Given the description of an element on the screen output the (x, y) to click on. 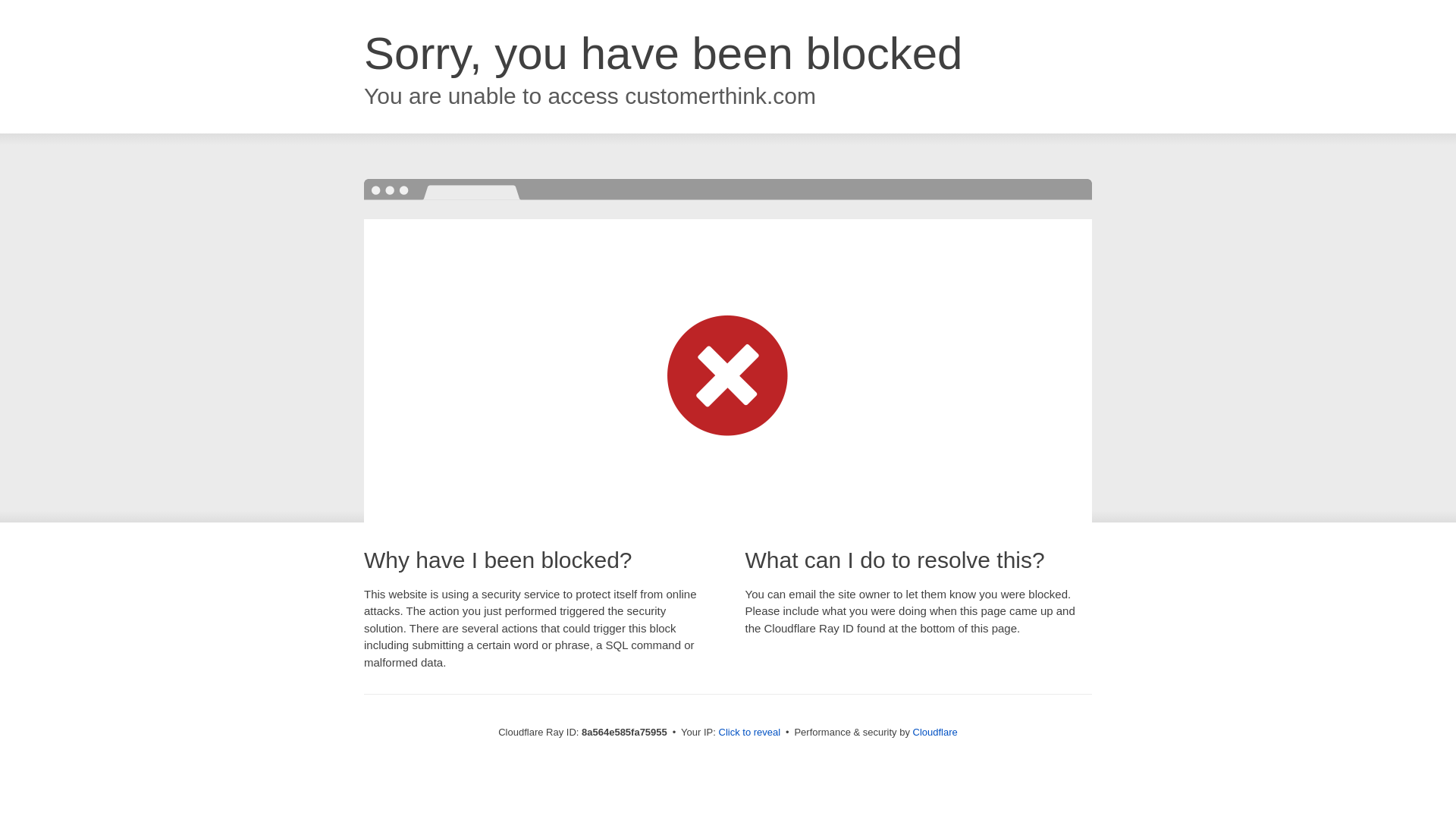
Click to reveal (749, 732)
Cloudflare (935, 731)
